Given the description of an element on the screen output the (x, y) to click on. 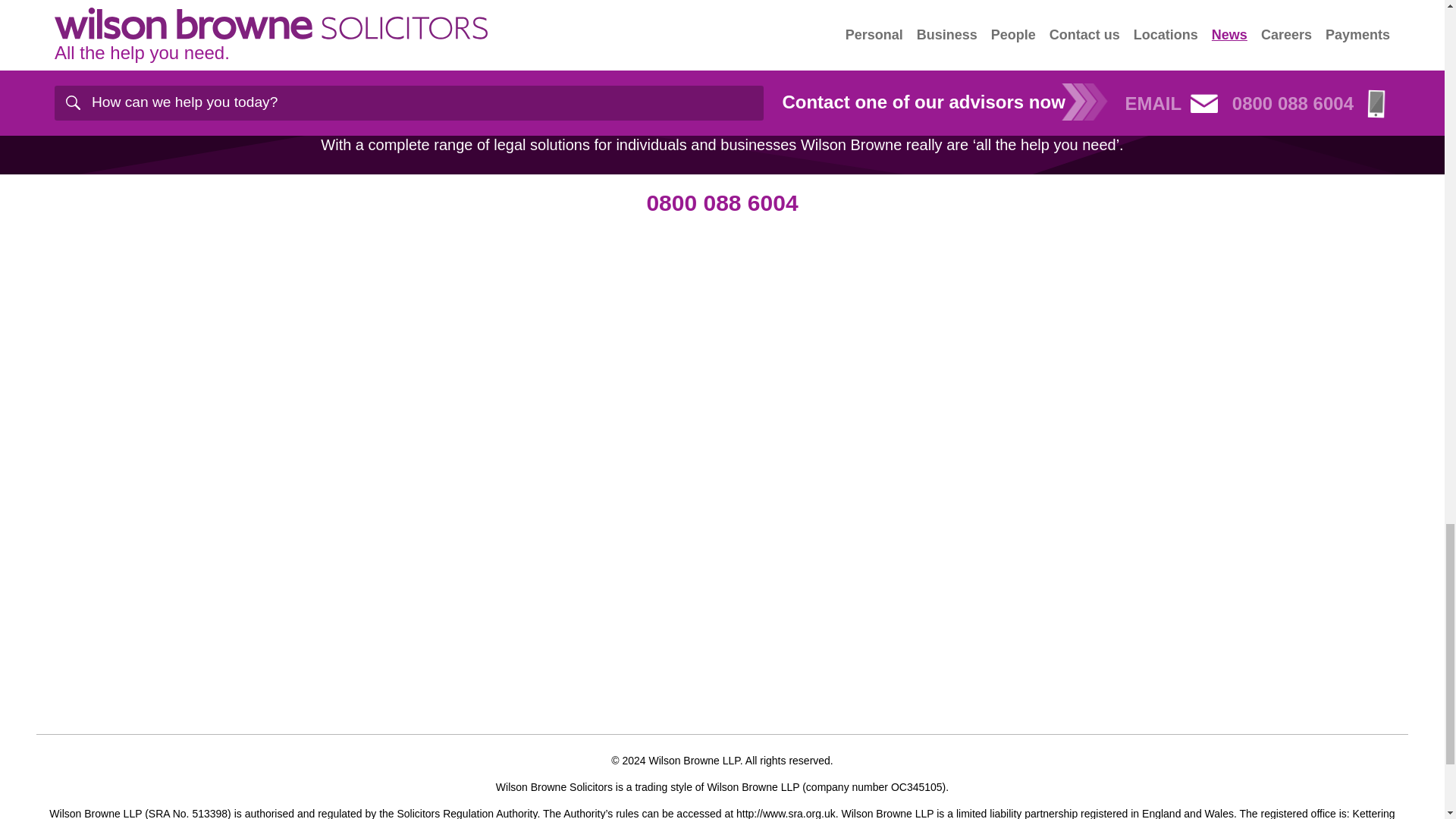
0800 088 6004 (721, 202)
Commercial Litigation team (290, 20)
